Given the description of an element on the screen output the (x, y) to click on. 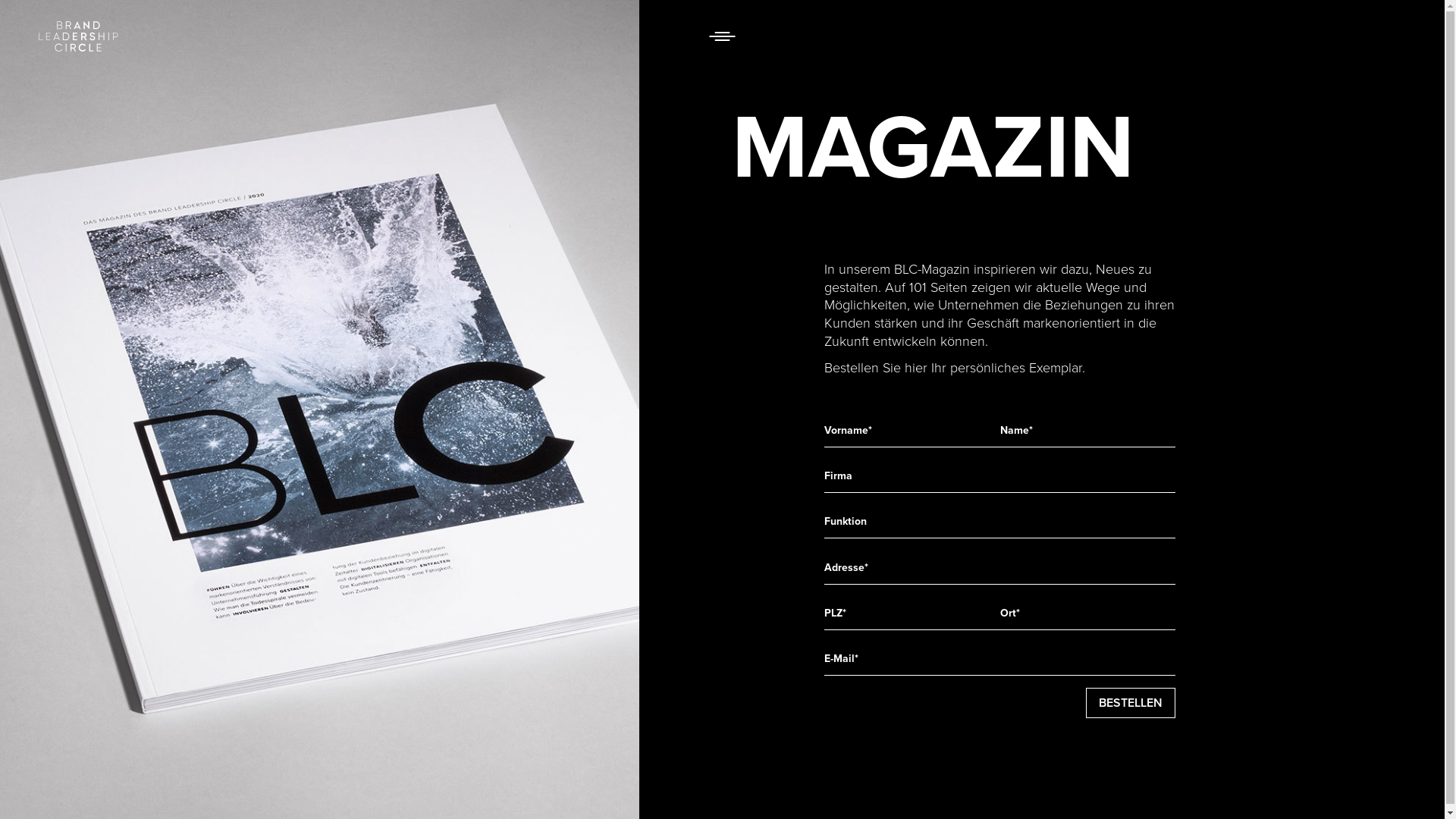
Bestellen Element type: text (1130, 702)
